Given the description of an element on the screen output the (x, y) to click on. 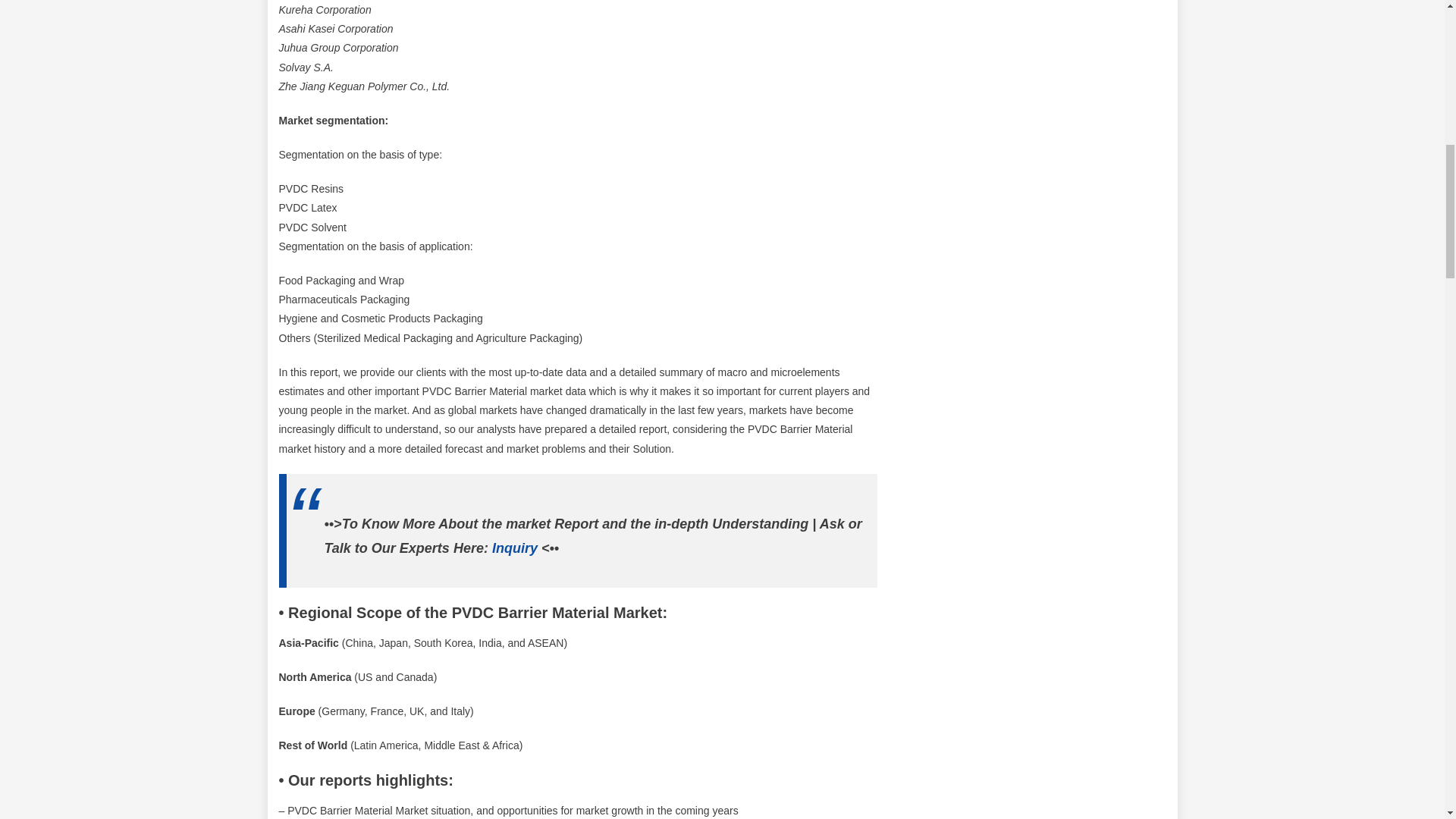
Inquiry (514, 548)
